Given the description of an element on the screen output the (x, y) to click on. 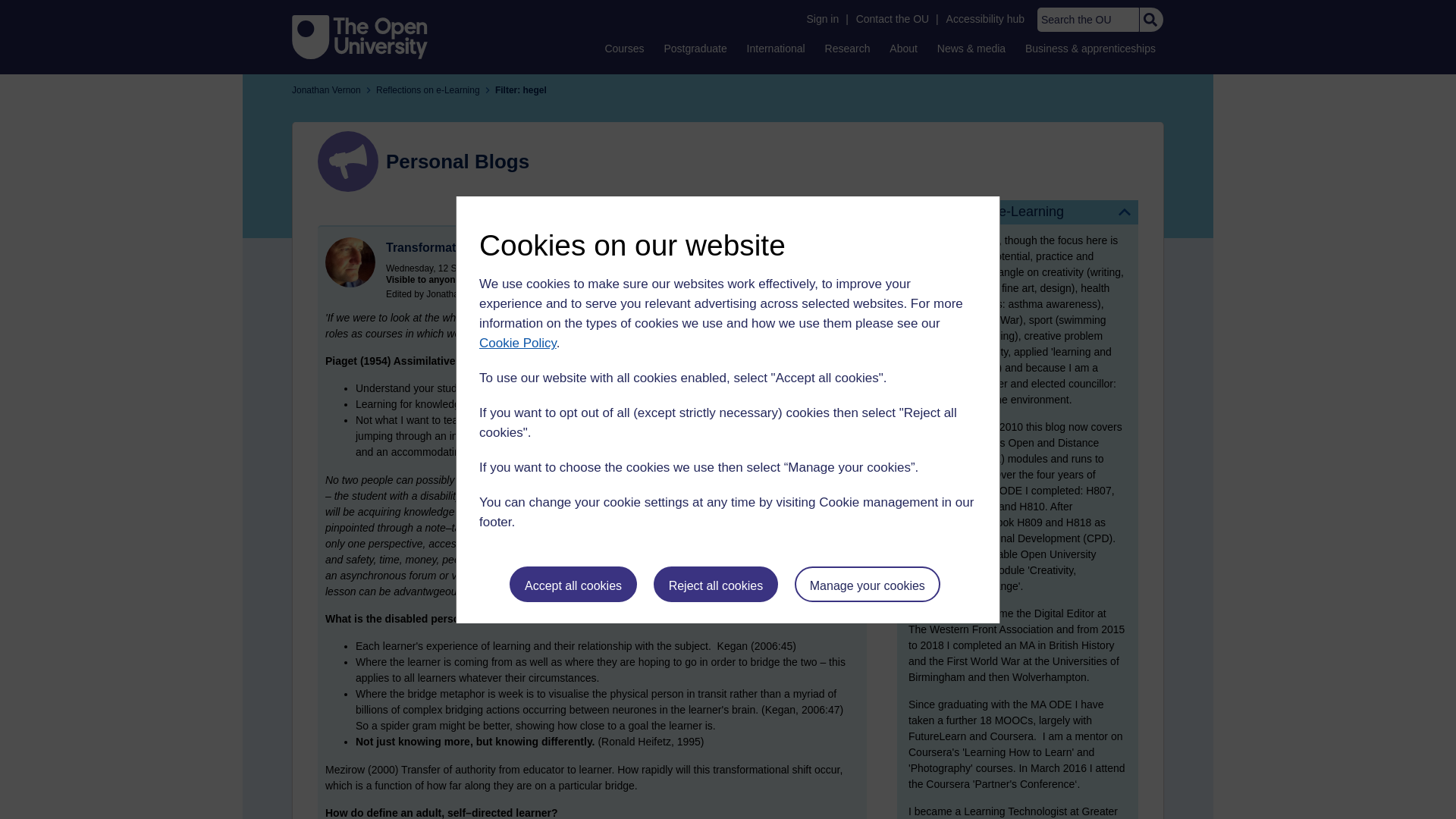
Sign in (822, 19)
Reflections on e-Learning (1017, 211)
Cookie Policy (517, 342)
Accept all cookies (573, 583)
International (775, 48)
Manage your cookies (867, 583)
Contact the OU (892, 19)
Search (1149, 19)
Search (1149, 19)
